Given the description of an element on the screen output the (x, y) to click on. 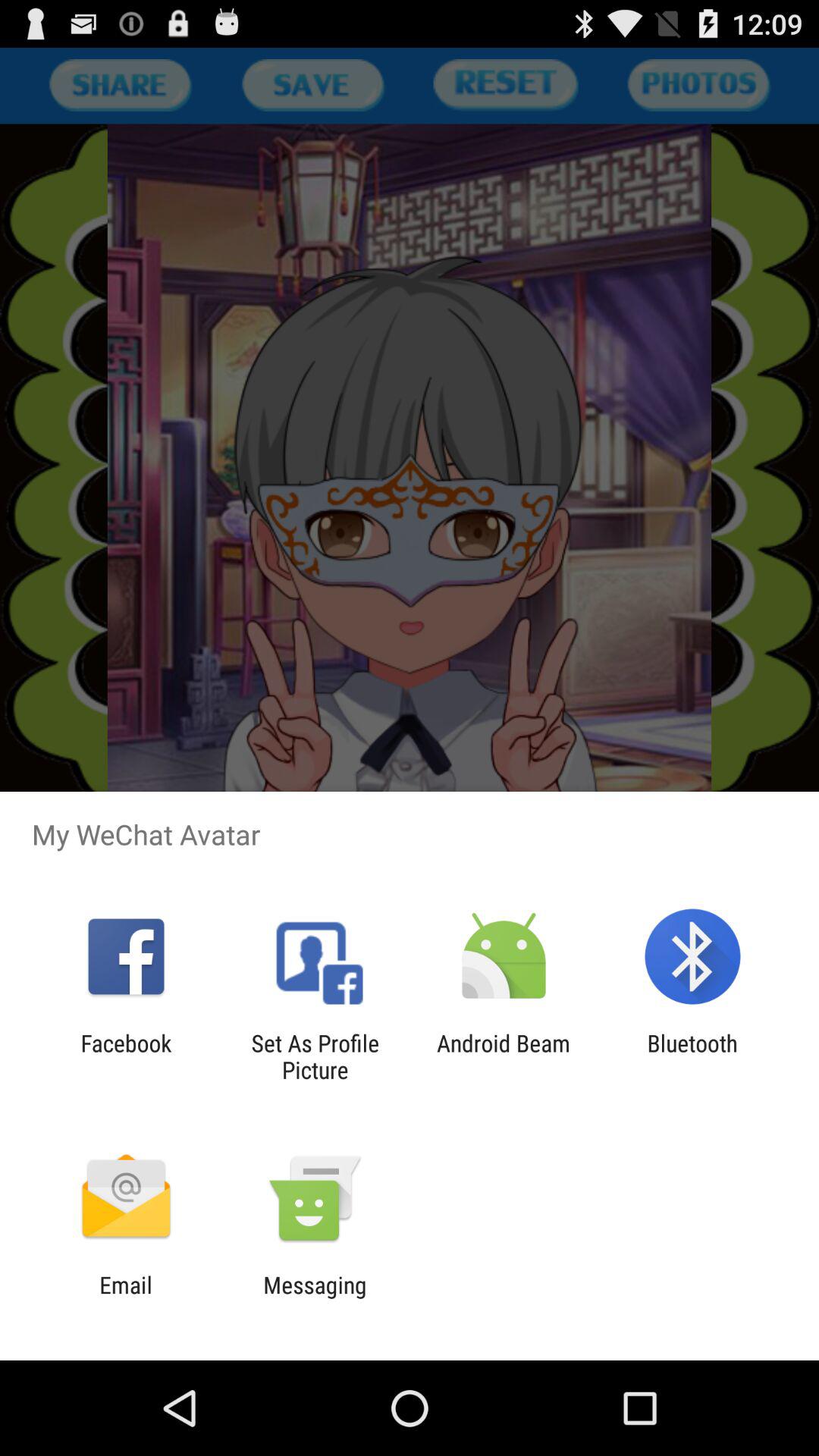
turn off android beam item (503, 1056)
